Given the description of an element on the screen output the (x, y) to click on. 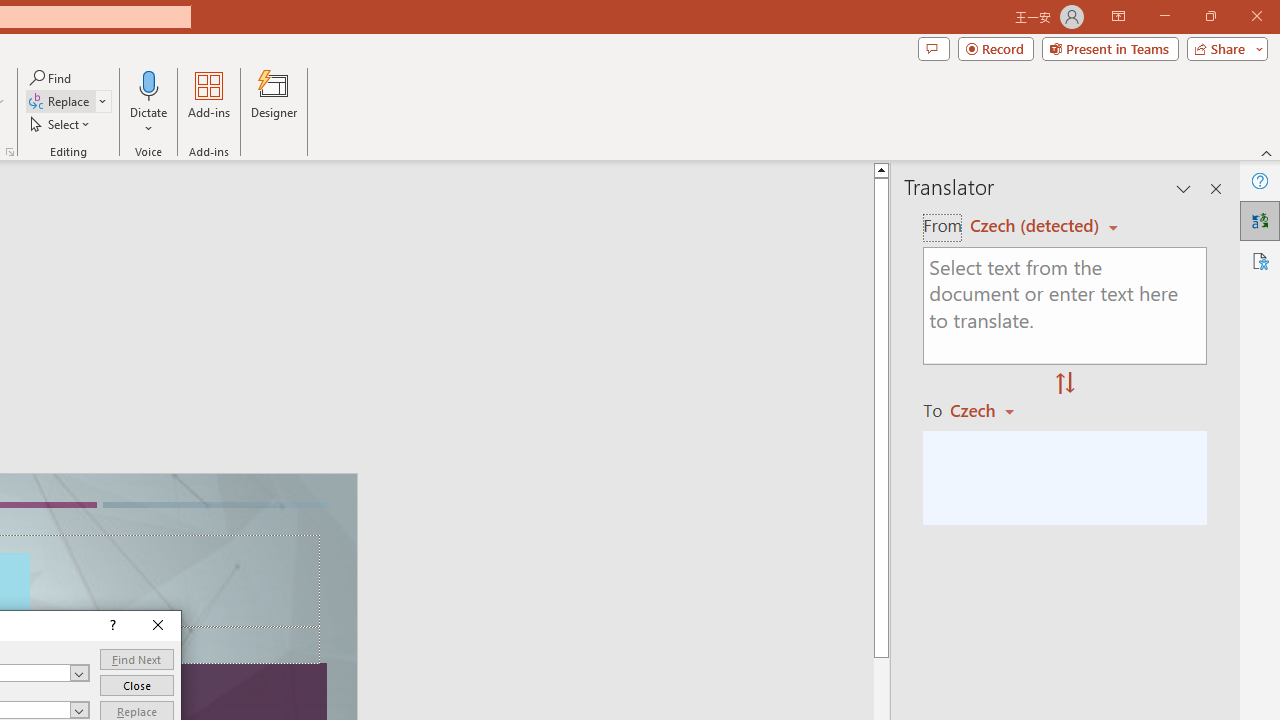
Find Next (136, 659)
Czech (991, 409)
